Given the description of an element on the screen output the (x, y) to click on. 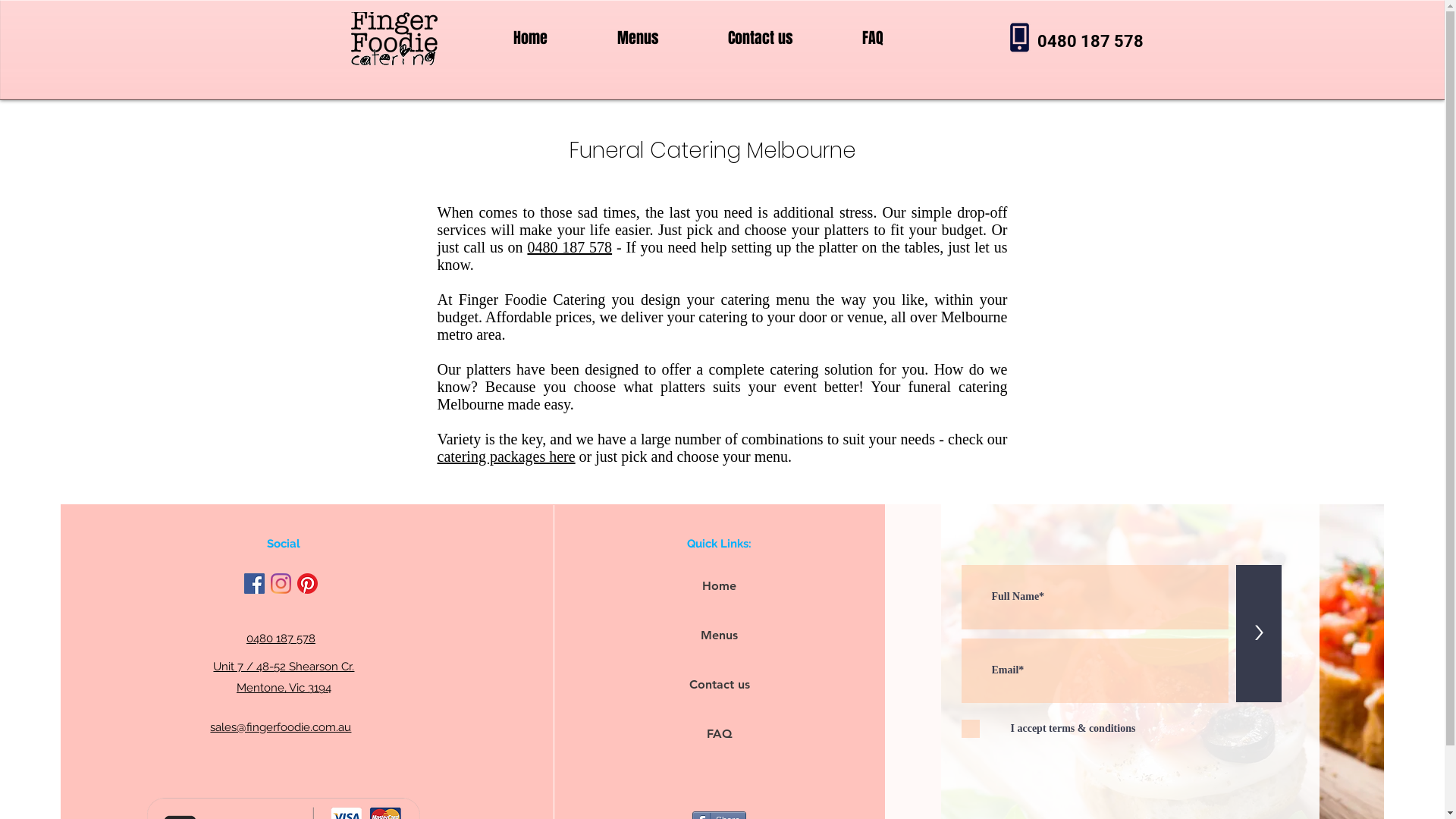
Mentone, Vic 3194 Element type: text (283, 687)
Contact us Element type: text (760, 38)
Unit 7 / 48-52 Shearson Cr. Element type: text (283, 666)
0480 187 578 Element type: text (569, 246)
FAQ Element type: text (719, 733)
Contact us Element type: text (719, 684)
FAQ Element type: text (873, 38)
0480 187 578 Element type: text (1090, 40)
Home Element type: text (529, 38)
sales@fingerfoodie.com.au Element type: text (280, 727)
0480 187 578 Element type: text (280, 638)
Home Element type: text (719, 585)
> Element type: text (1258, 633)
catering packages here Element type: text (505, 456)
